Given the description of an element on the screen output the (x, y) to click on. 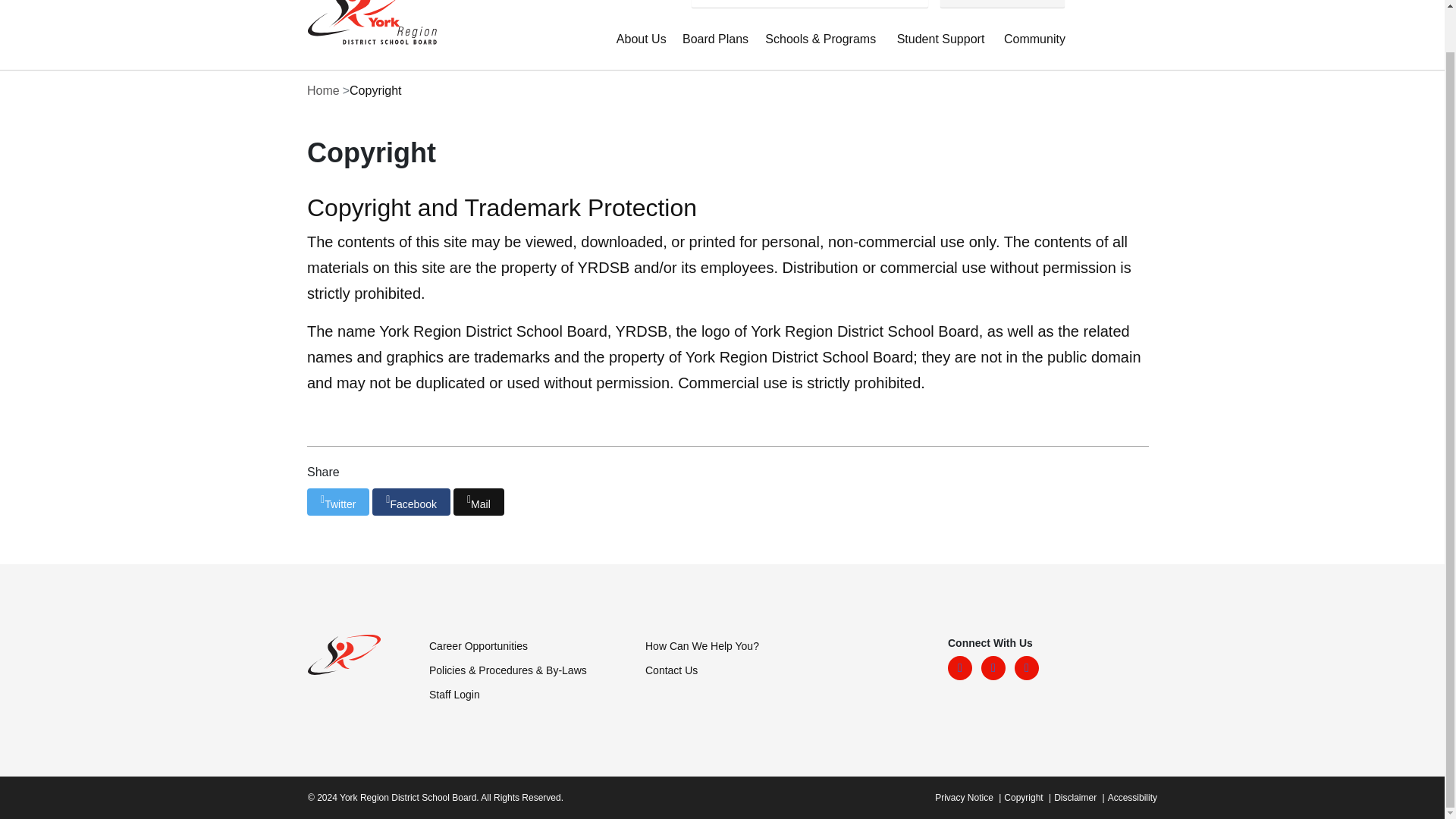
About Us (642, 46)
About Us (642, 46)
Home (367, 24)
Board Plans (717, 46)
Board Plans (717, 46)
